Given the description of an element on the screen output the (x, y) to click on. 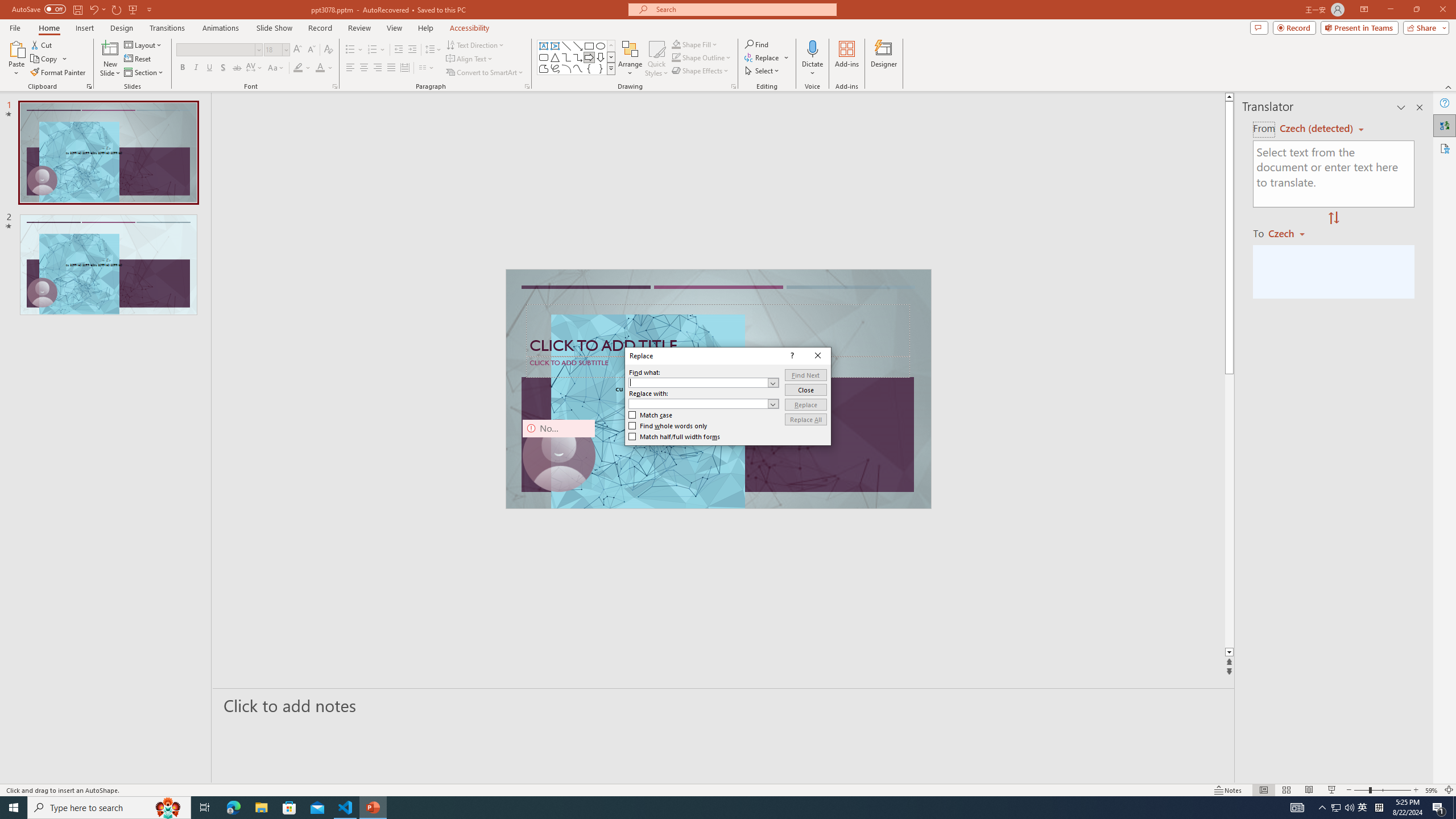
Visual Studio Code - 1 running window (345, 807)
Replace with (703, 403)
Line (566, 45)
Character Spacing (254, 67)
Curve (577, 68)
Font... (334, 85)
Arrow: Down (600, 57)
Arrange (630, 58)
Bold (182, 67)
Increase Indent (412, 49)
